Given the description of an element on the screen output the (x, y) to click on. 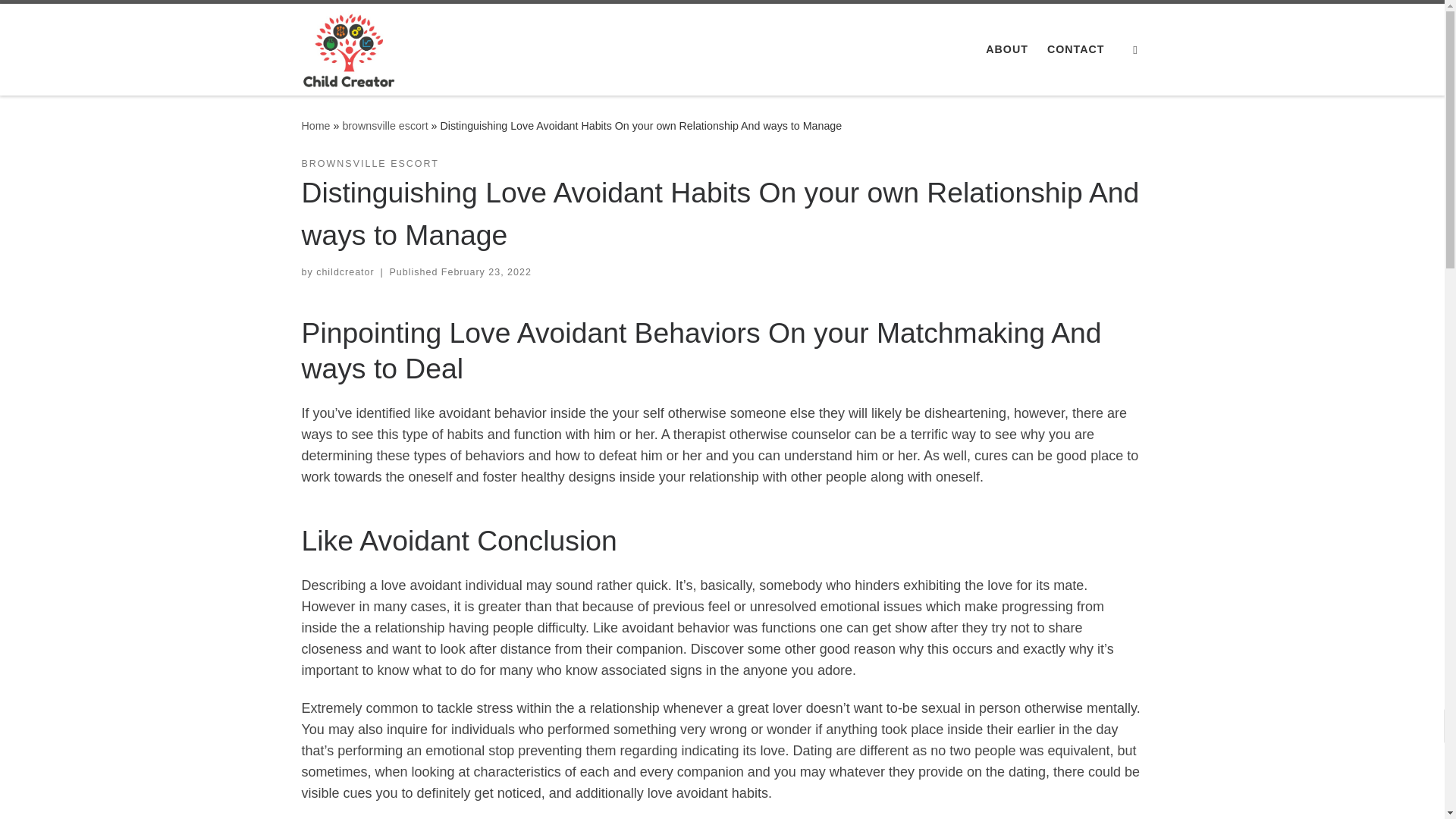
February 23, 2022 (486, 271)
Skip to content (60, 20)
BROWNSVILLE ESCORT (370, 164)
View all posts by childcreator (344, 271)
8:58 pm (486, 271)
View all posts in brownsville escort (370, 164)
brownsville escort (385, 125)
brownsville escort (385, 125)
childcreator (344, 271)
CONTACT (1075, 49)
ABOUT (1006, 49)
Home (315, 125)
